Given the description of an element on the screen output the (x, y) to click on. 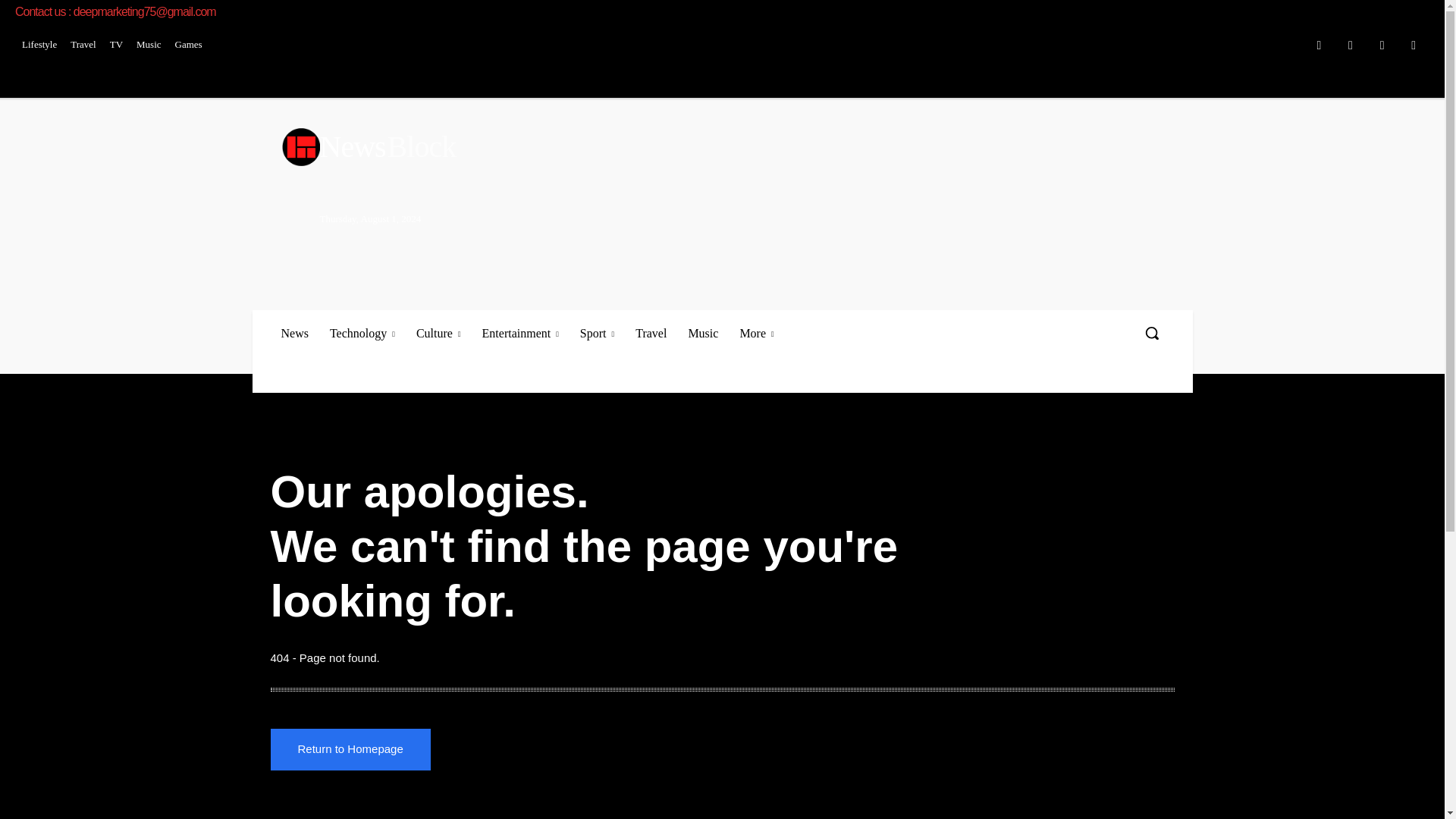
Youtube (1413, 45)
Instagram (1351, 45)
Facebook (1319, 45)
News (722, 146)
Games (293, 333)
Twitter (188, 44)
Music (1382, 45)
Lifestyle (148, 44)
Travel (39, 44)
Technology (82, 44)
